Given the description of an element on the screen output the (x, y) to click on. 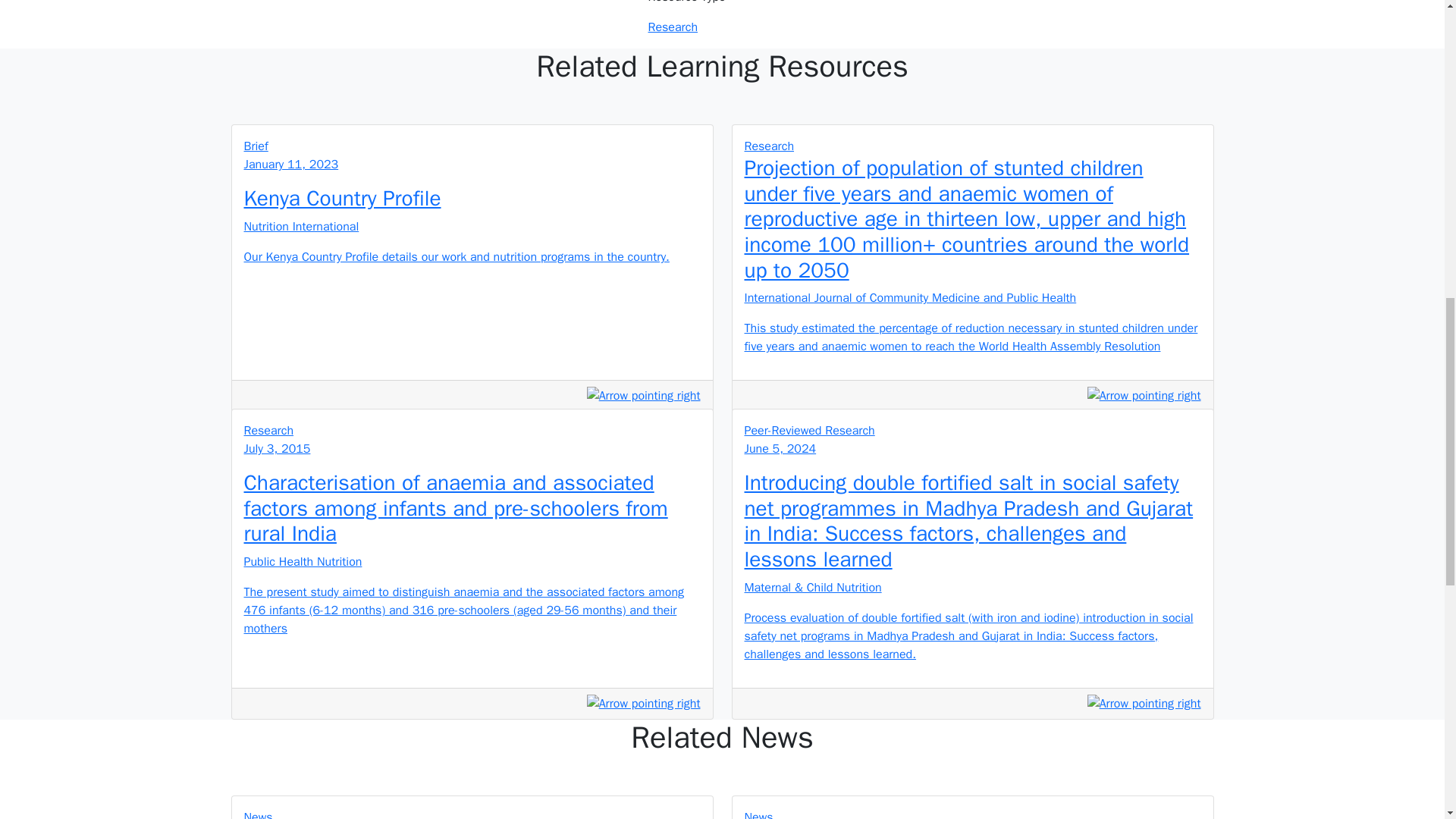
Research (672, 27)
